Given the description of an element on the screen output the (x, y) to click on. 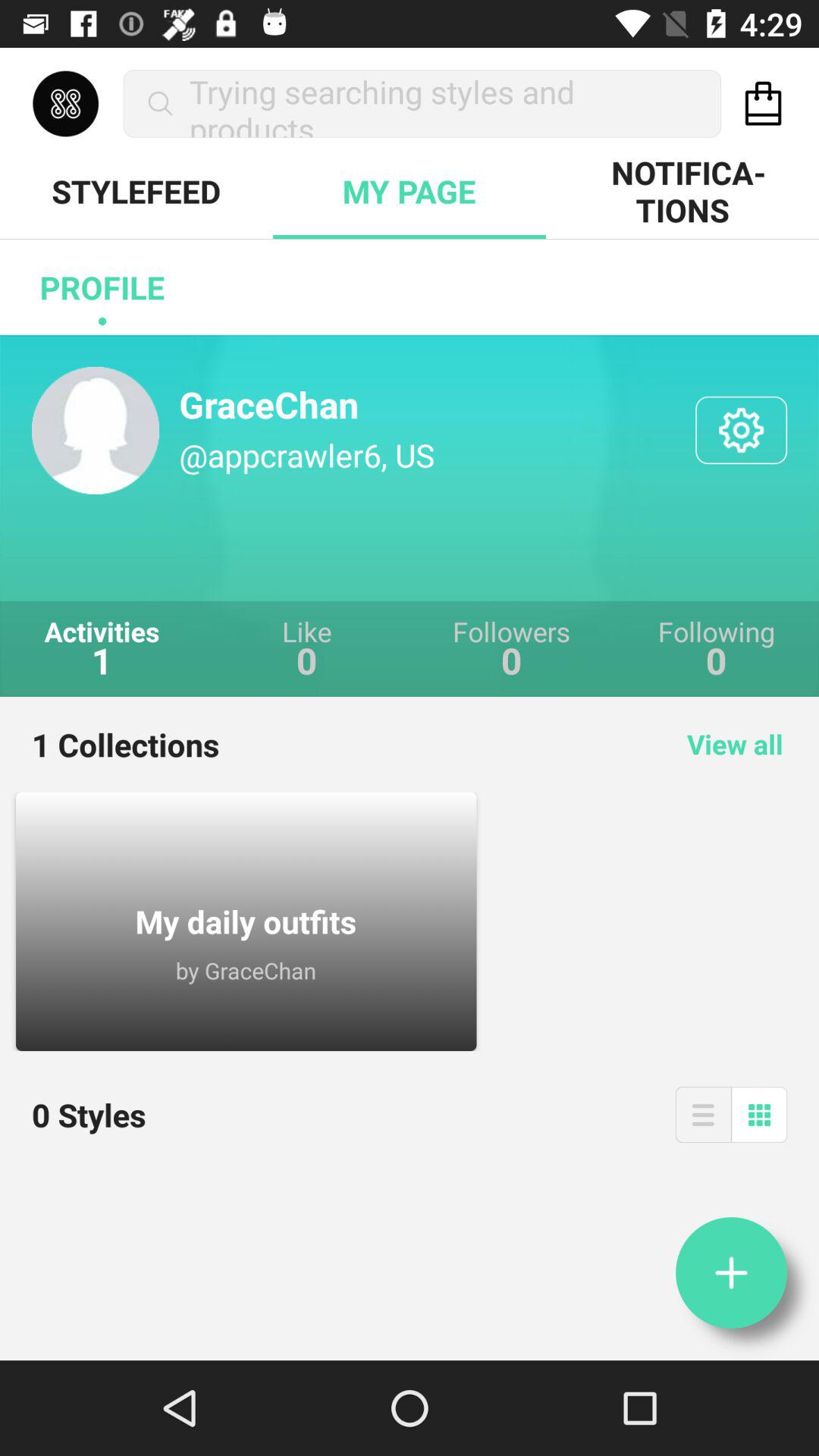
navigation bar (702, 1114)
